Given the description of an element on the screen output the (x, y) to click on. 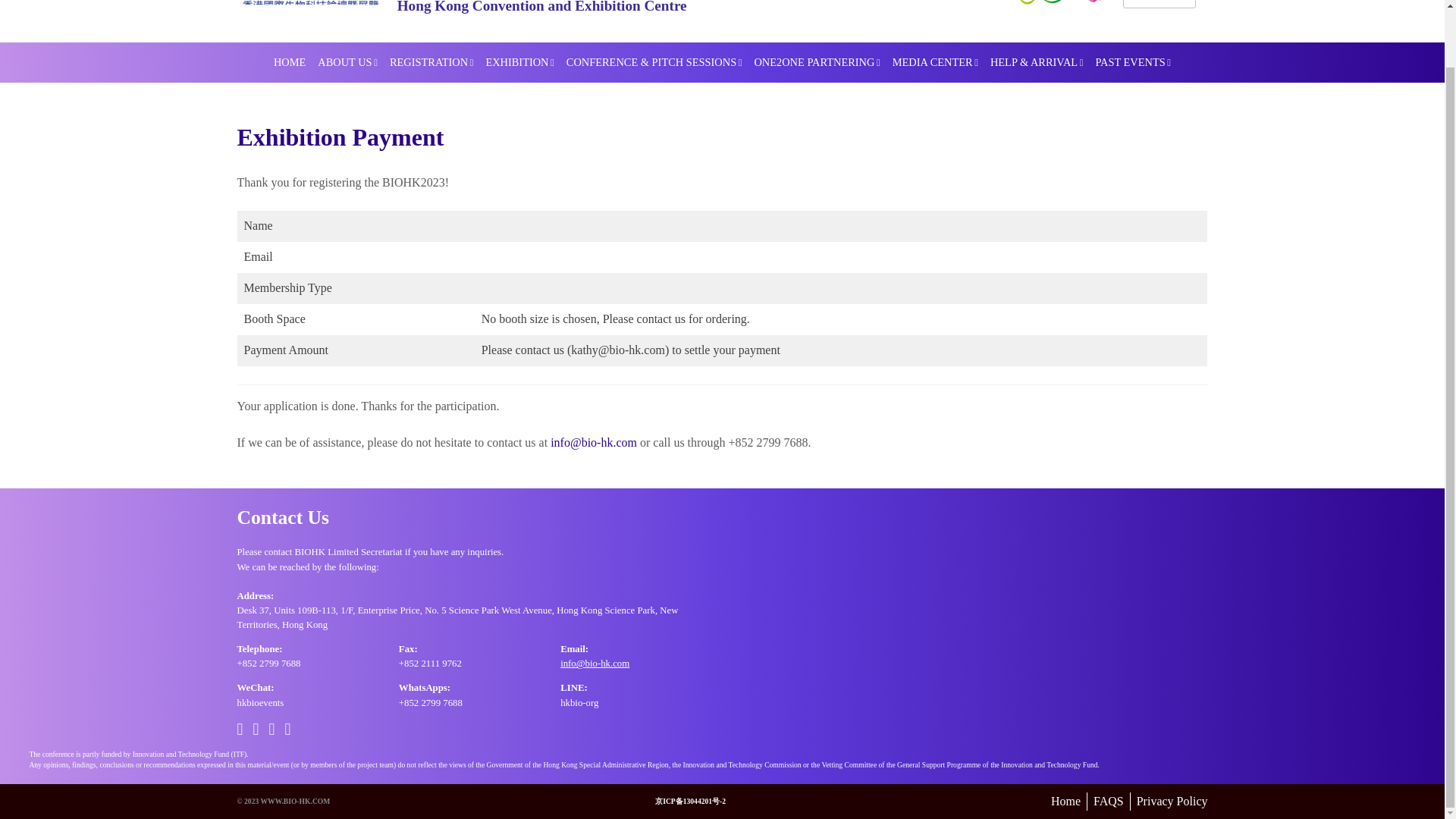
English (1152, 2)
EXHIBITION (519, 62)
HOME (289, 62)
REGISTRATION (431, 62)
ONE2ONE PARTNERING (816, 62)
MEDIA CENTER (935, 62)
English (1152, 2)
ABOUT US (347, 62)
